Given the description of an element on the screen output the (x, y) to click on. 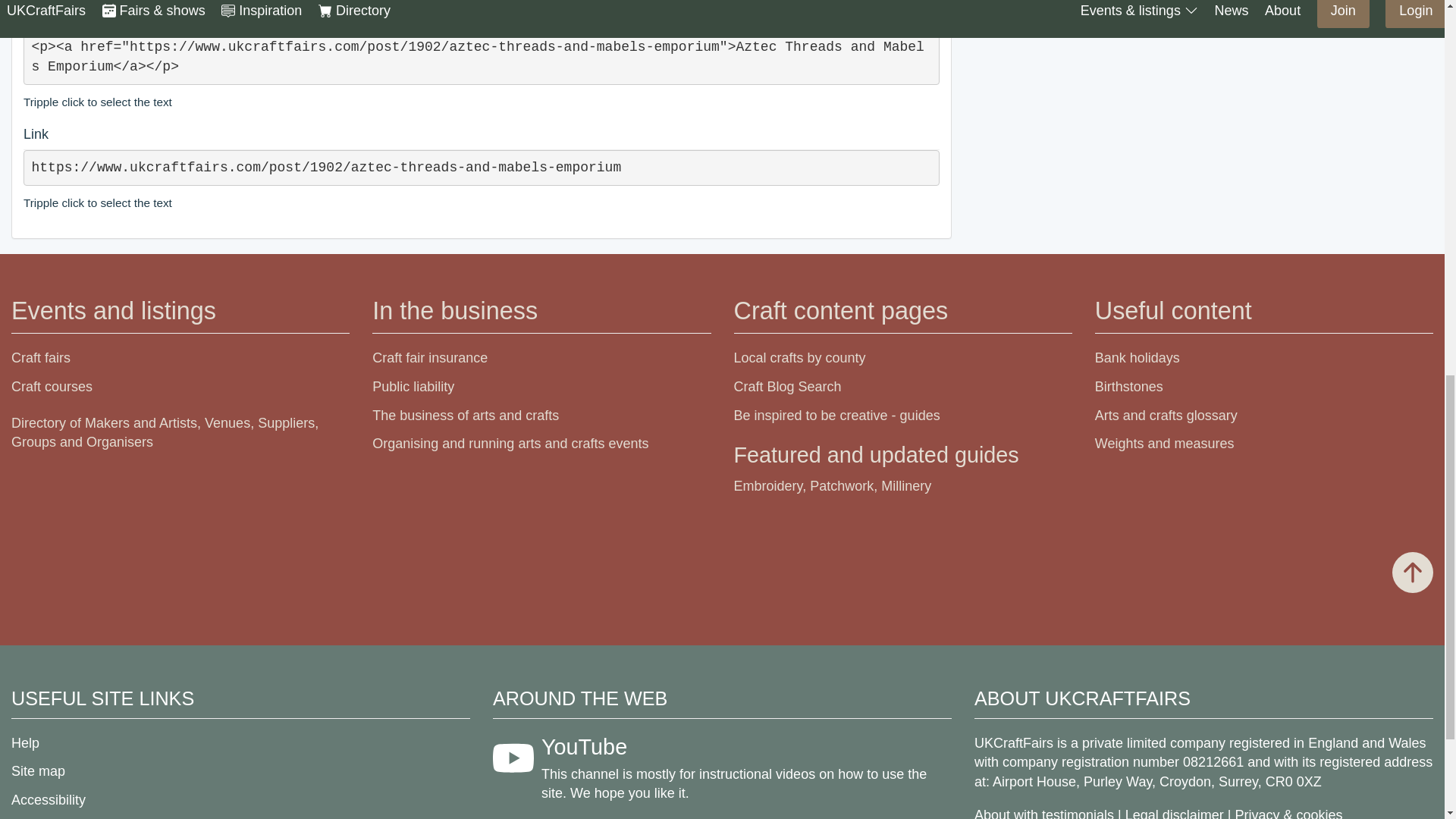
Craft fairs (40, 357)
Craft courses (52, 386)
